Given the description of an element on the screen output the (x, y) to click on. 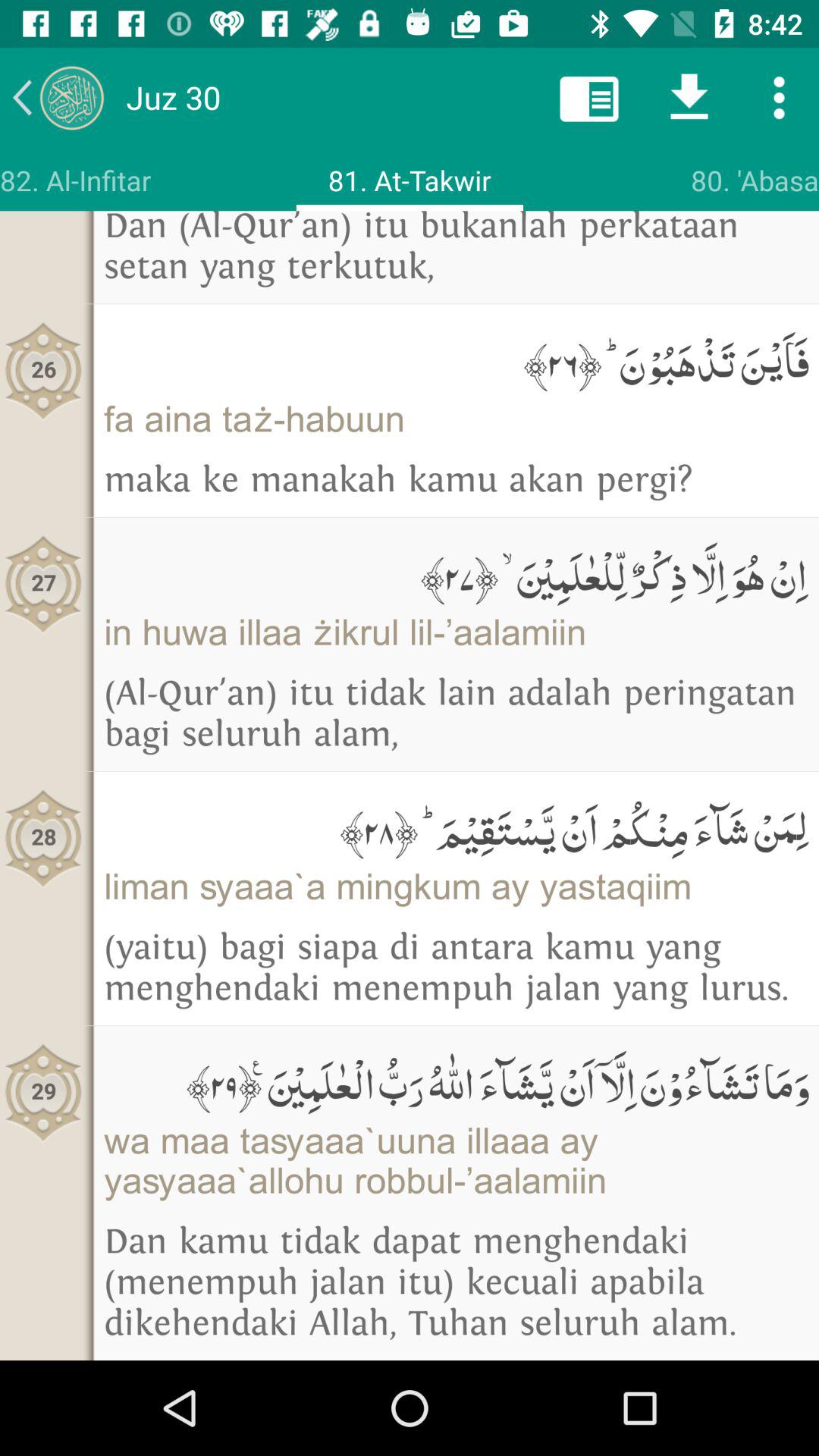
download this article (689, 97)
